Given the description of an element on the screen output the (x, y) to click on. 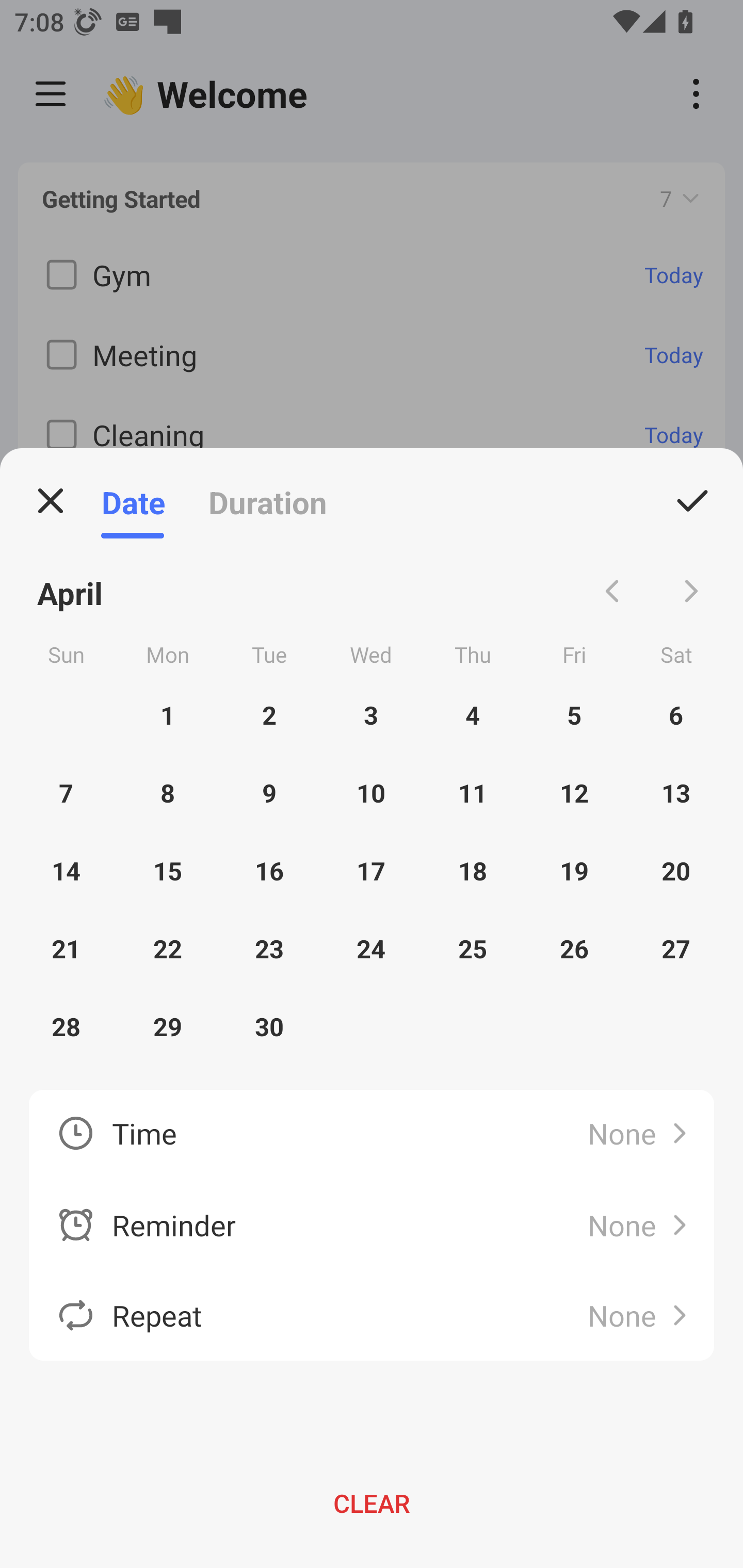
Duration (267, 501)
April (70, 591)
Time None (371, 1134)
Reminder None (371, 1225)
Repeat None (371, 1315)
CLEAR (371, 1502)
